Given the description of an element on the screen output the (x, y) to click on. 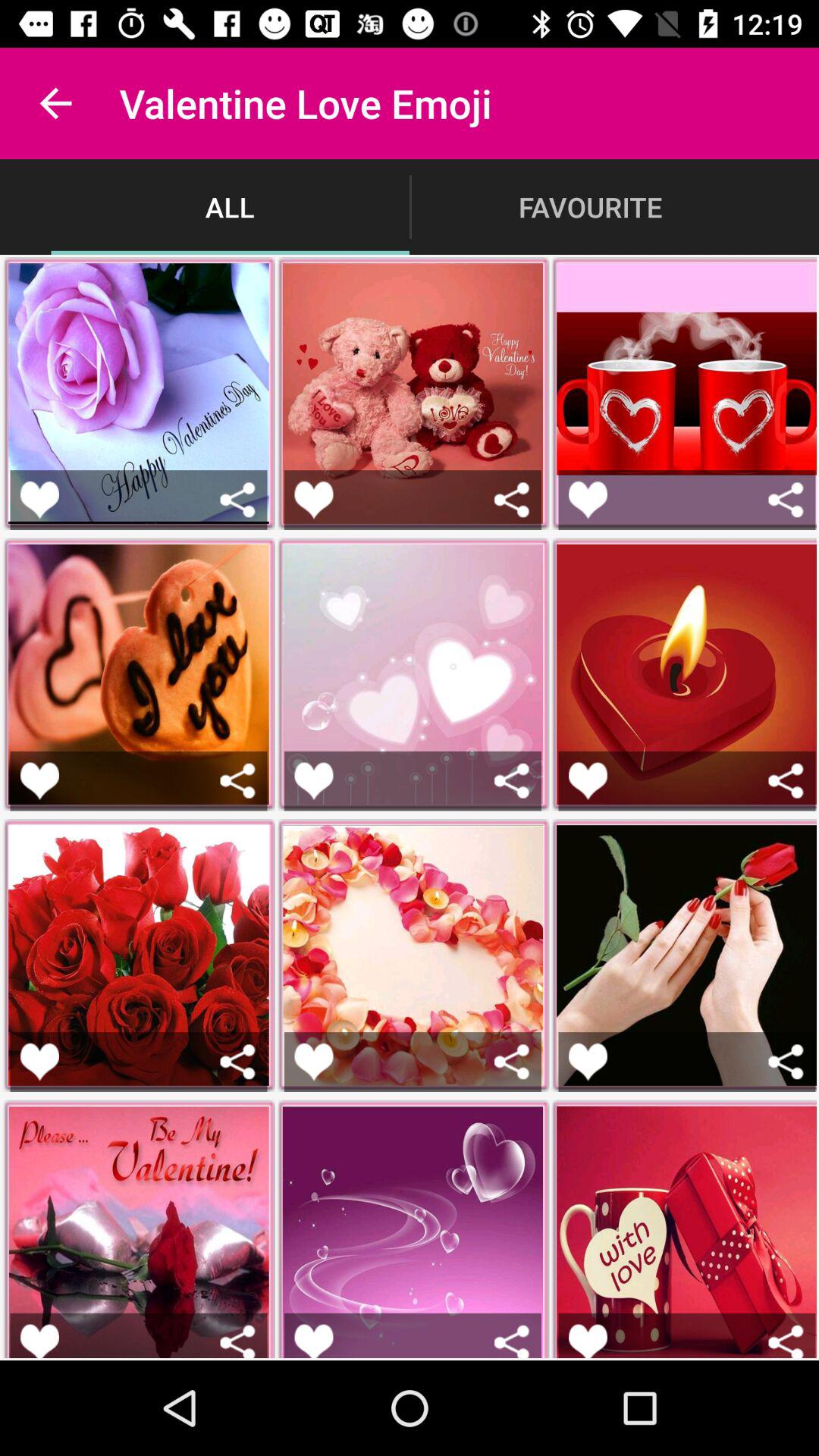
add to favorite (313, 499)
